Given the description of an element on the screen output the (x, y) to click on. 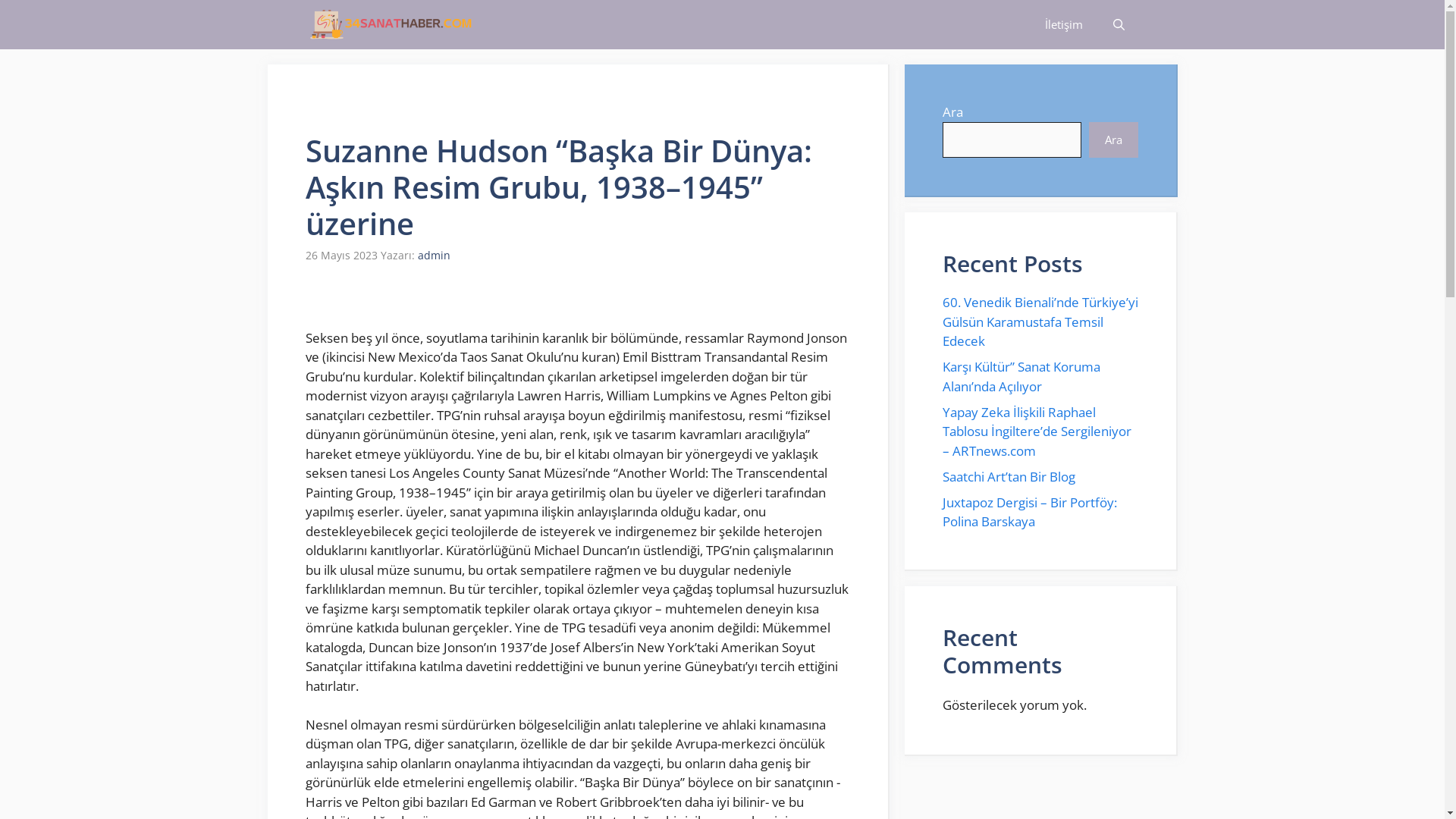
admin Element type: text (433, 254)
34sanathaber Element type: hover (389, 24)
Ara Element type: text (1113, 139)
